Given the description of an element on the screen output the (x, y) to click on. 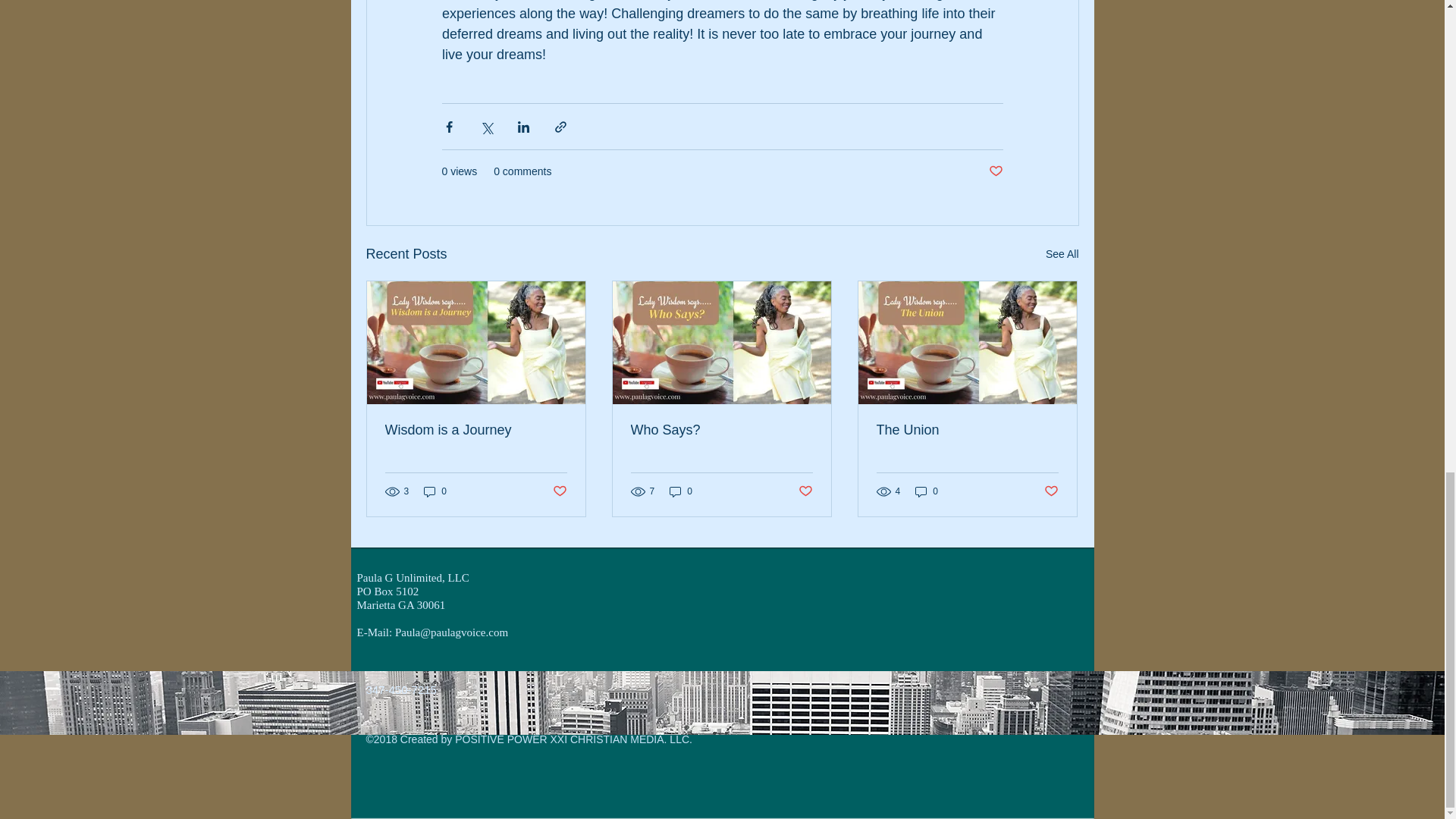
0 (681, 491)
Who Says? (721, 430)
Post not marked as liked (558, 490)
See All (1061, 254)
The Union (967, 430)
Wisdom is a Journey (476, 430)
0 (435, 491)
Post not marked as liked (1050, 490)
0 (926, 491)
Post not marked as liked (804, 490)
Post not marked as liked (995, 171)
